Given the description of an element on the screen output the (x, y) to click on. 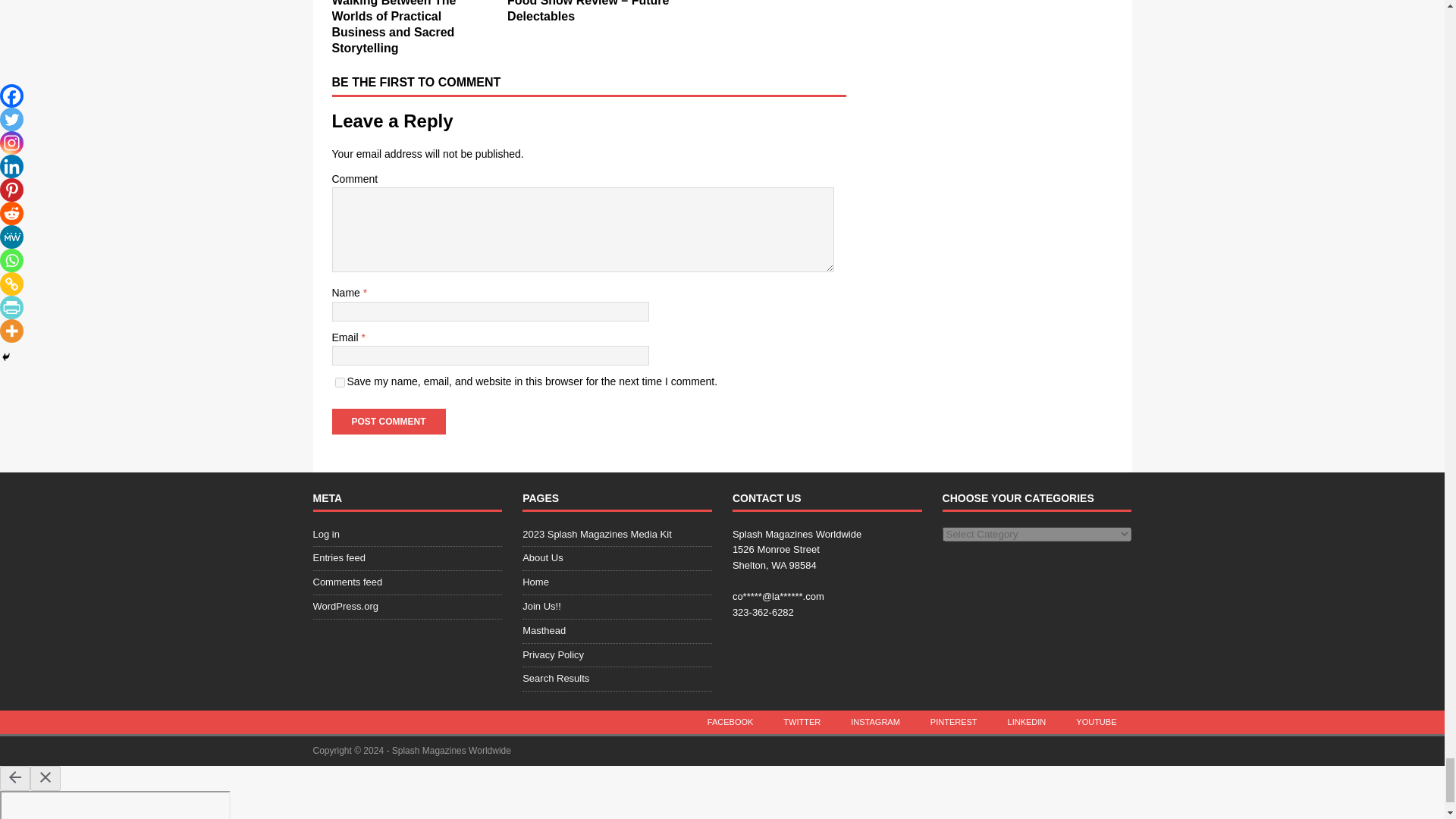
yes (339, 382)
Post Comment (388, 421)
